Given the description of an element on the screen output the (x, y) to click on. 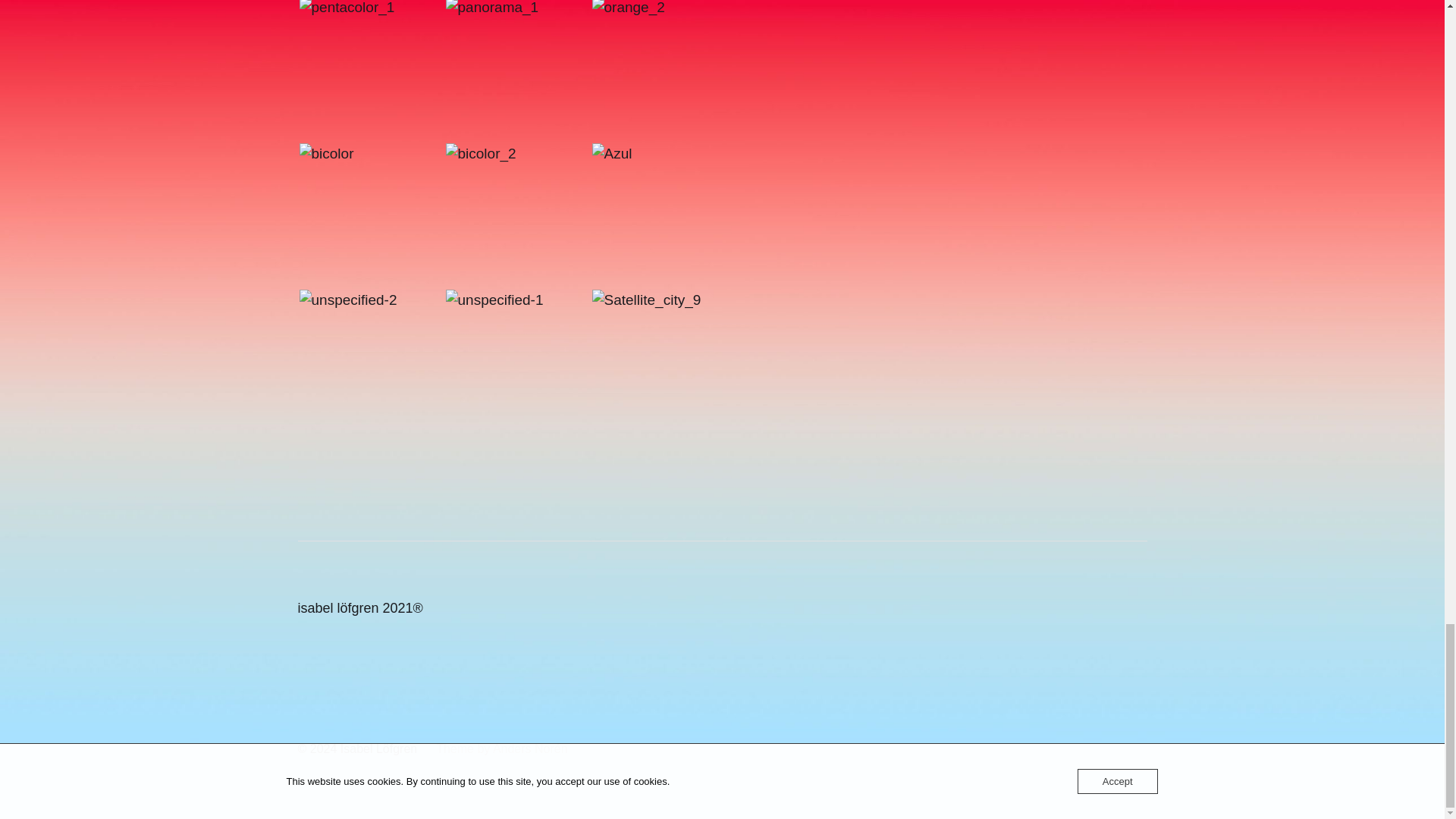
unspecified-2 (370, 361)
bicolor (370, 214)
unspecified-1 (517, 361)
Azul (663, 214)
